Given the description of an element on the screen output the (x, y) to click on. 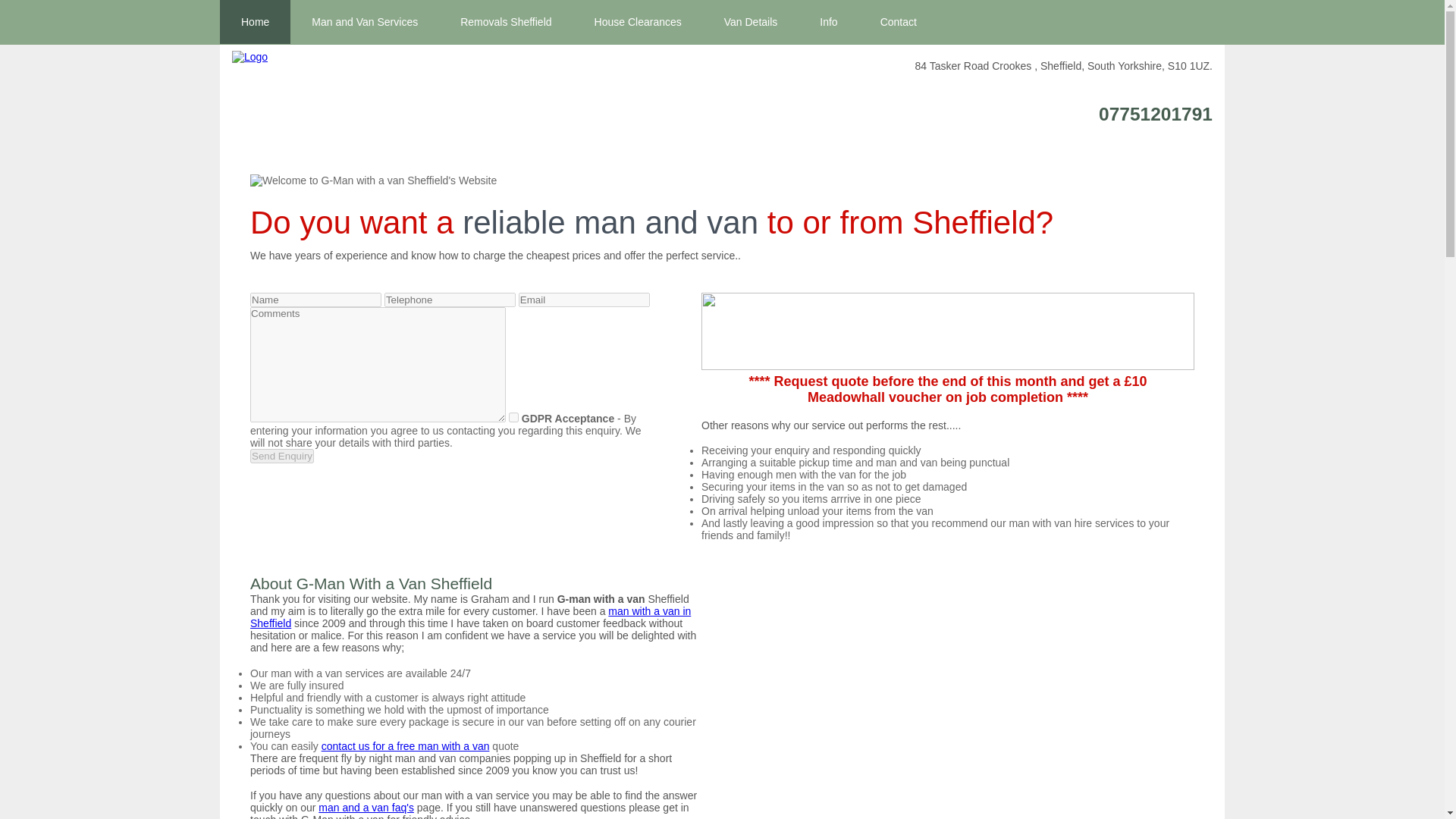
man with a van sheffield (470, 617)
Send Enquiry (282, 455)
man and a van faq's (365, 807)
Man and Van Services (364, 22)
man with a van in Sheffield (470, 617)
Send Enquiry (282, 455)
contact us for a free man with a van (405, 746)
Contact (898, 22)
07751201791 (1155, 114)
Van Details (751, 22)
Info (828, 22)
Home (254, 22)
yes (513, 417)
Courier Quote (405, 746)
Removals Sheffield (505, 22)
